Given the description of an element on the screen output the (x, y) to click on. 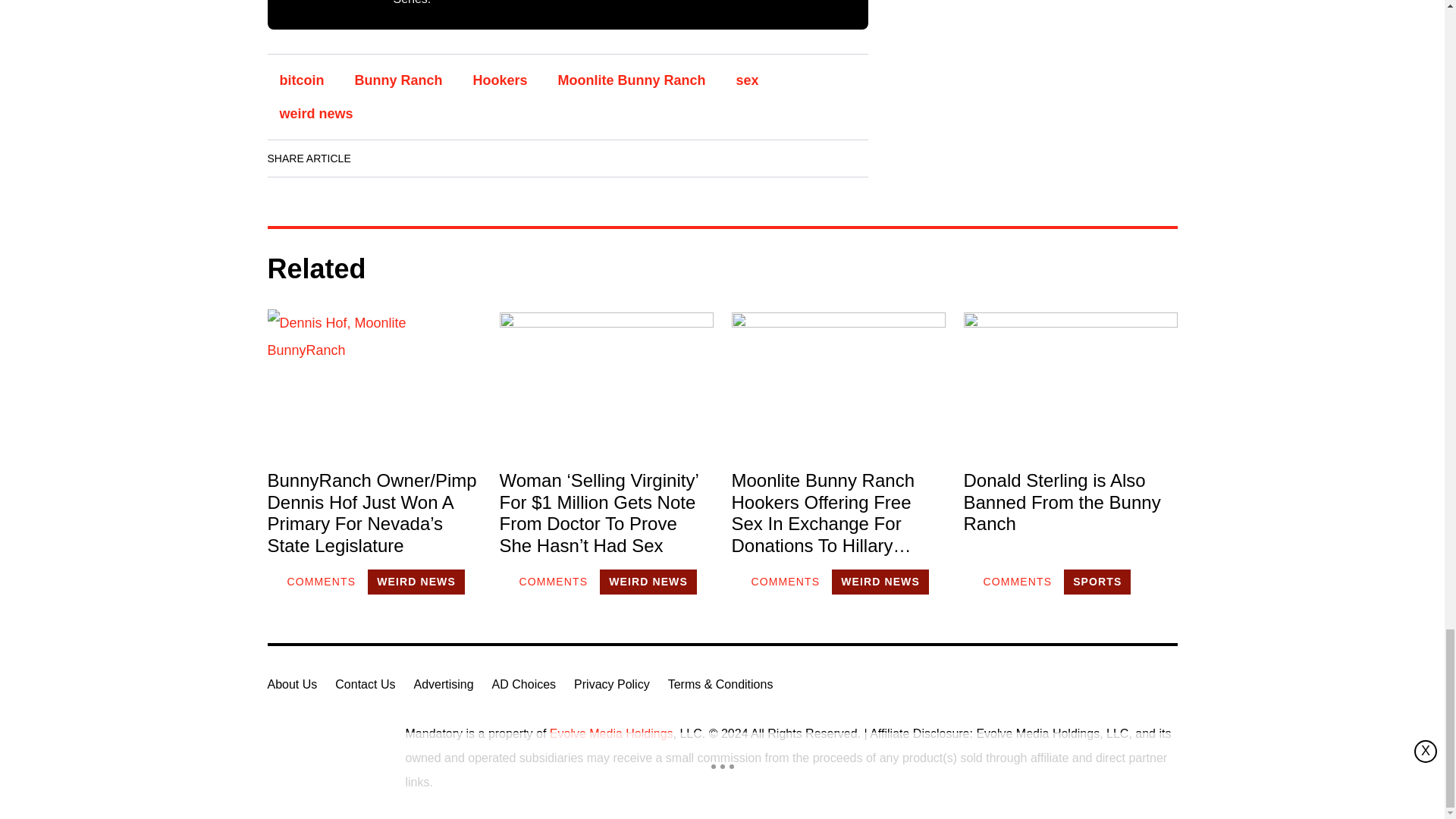
Facebook (377, 158)
LinkedIn (420, 158)
weird news (315, 113)
sex (747, 80)
Moonlite Bunny Ranch (631, 80)
Bunny Ranch (398, 80)
bitcoin (301, 80)
Hookers (500, 80)
Pinterest (505, 158)
Twitter (463, 158)
